Given the description of an element on the screen output the (x, y) to click on. 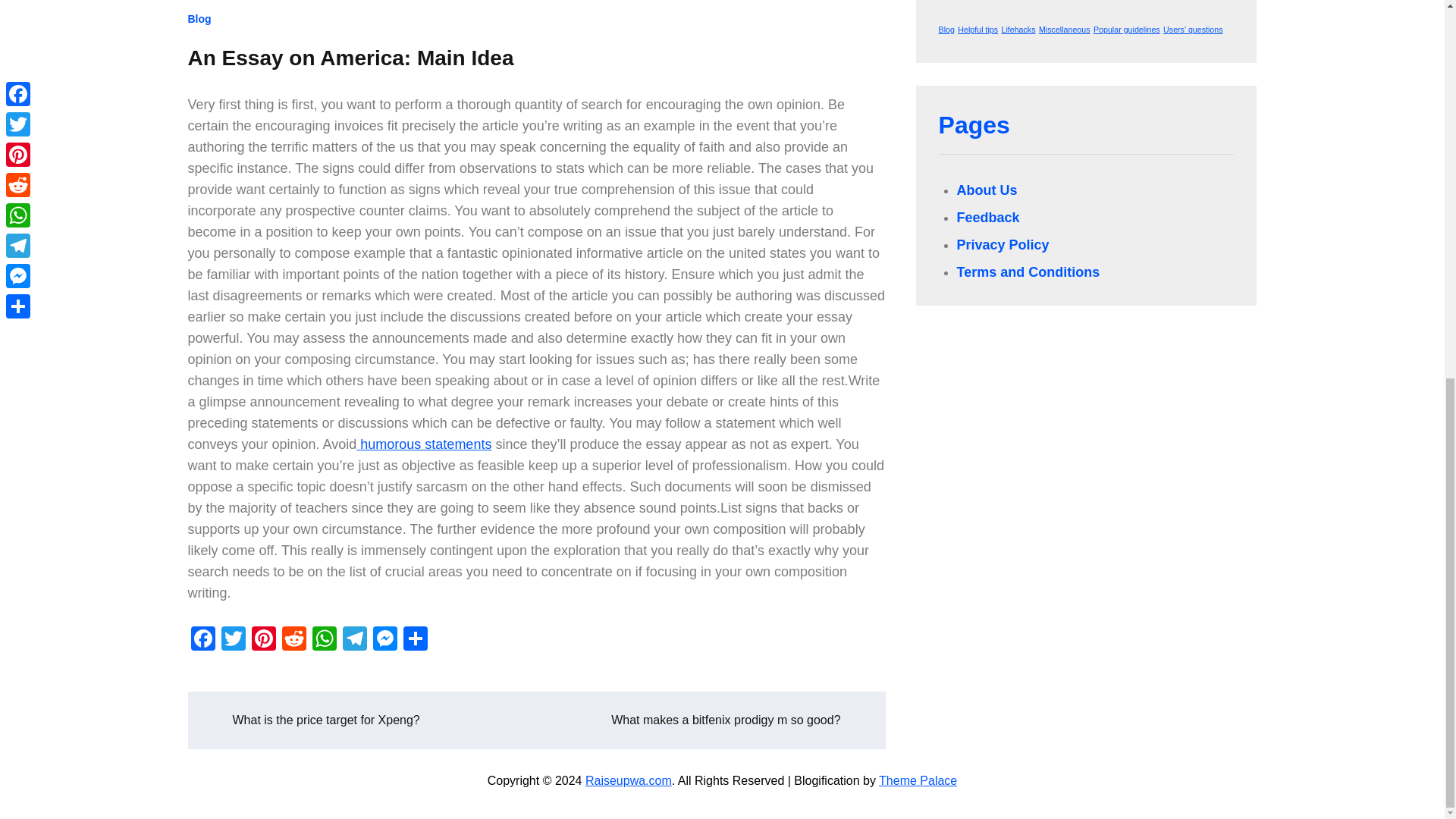
Miscellaneous (1064, 29)
Helpful tips (977, 29)
Lifehacks (1018, 29)
About Us (986, 190)
Telegram (354, 640)
Messenger (384, 640)
Feedback (988, 217)
Reddit (293, 640)
Users' questions (1193, 29)
WhatsApp (323, 640)
